Given the description of an element on the screen output the (x, y) to click on. 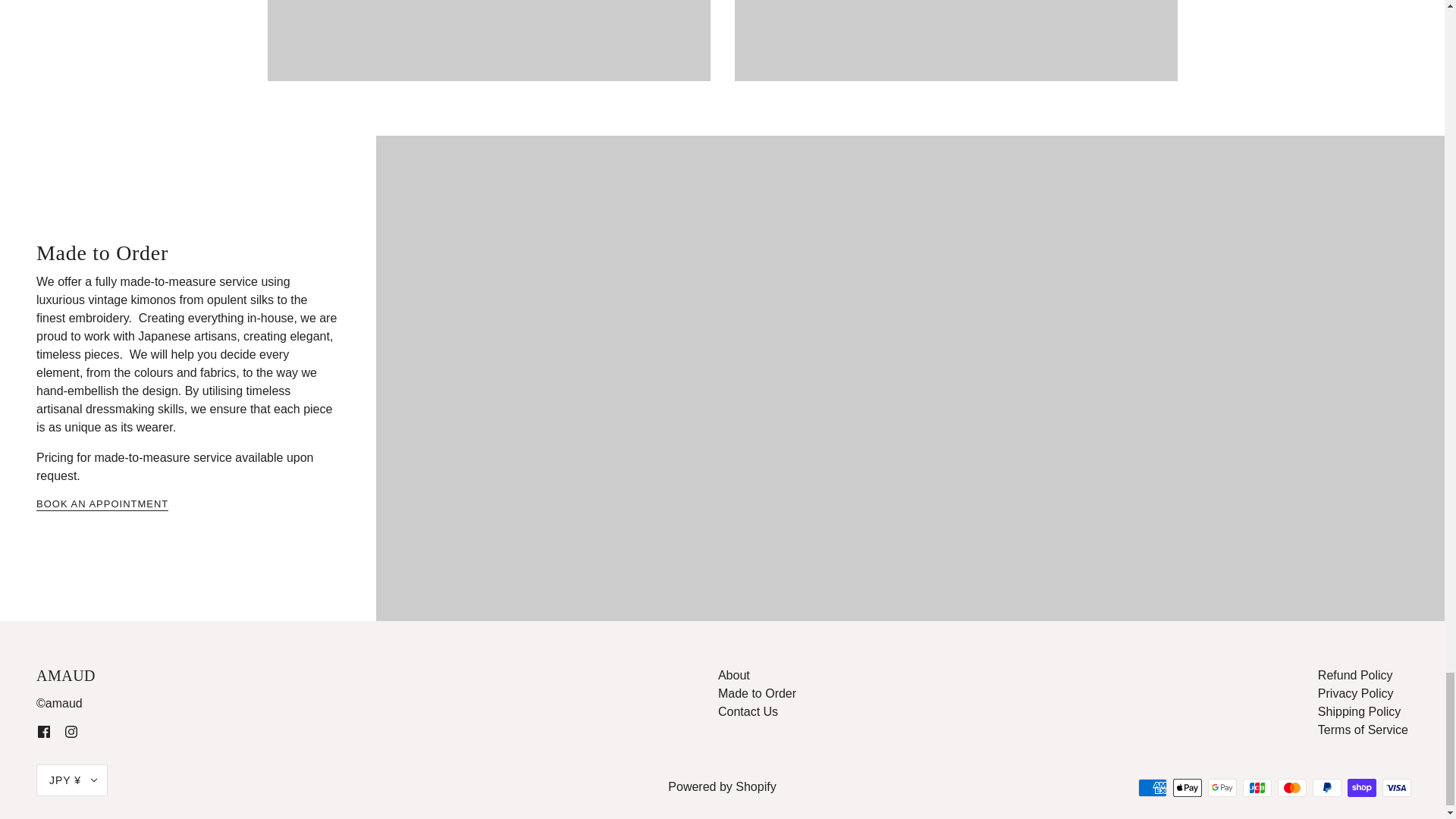
Visa (1395, 787)
Privacy Policy (1355, 693)
Mastercard (1292, 787)
Shipping Policy (1358, 711)
Made to Order (756, 693)
Apple Pay (1187, 787)
Refund Policy (1355, 675)
Shop Pay (1361, 787)
American Express (1152, 787)
PayPal (1326, 787)
